Given the description of an element on the screen output the (x, y) to click on. 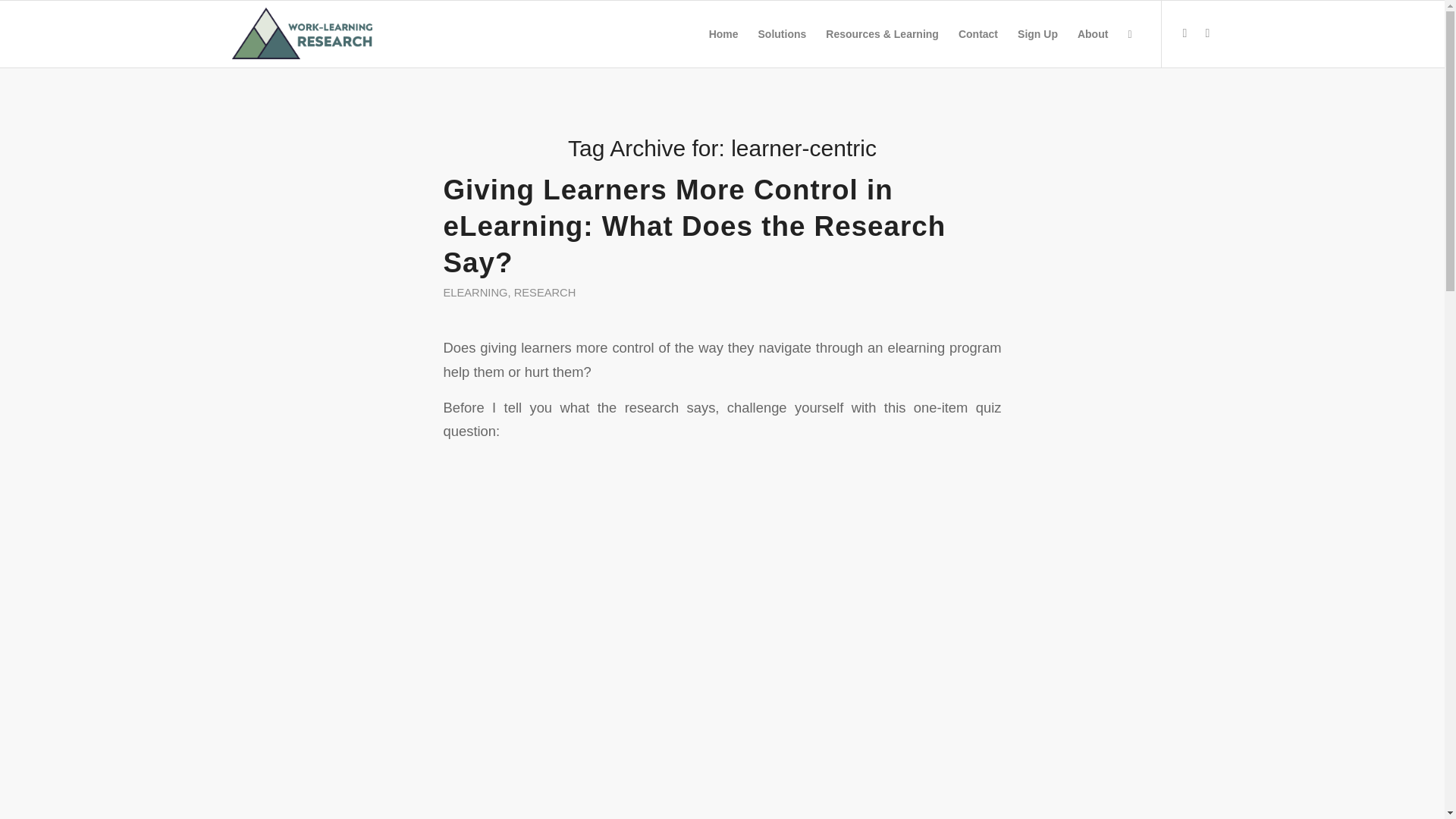
Sign Up (1037, 33)
X (1184, 33)
LinkedIn (1208, 33)
RESEARCH (544, 292)
Solutions (782, 33)
ELEARNING (474, 292)
